Given the description of an element on the screen output the (x, y) to click on. 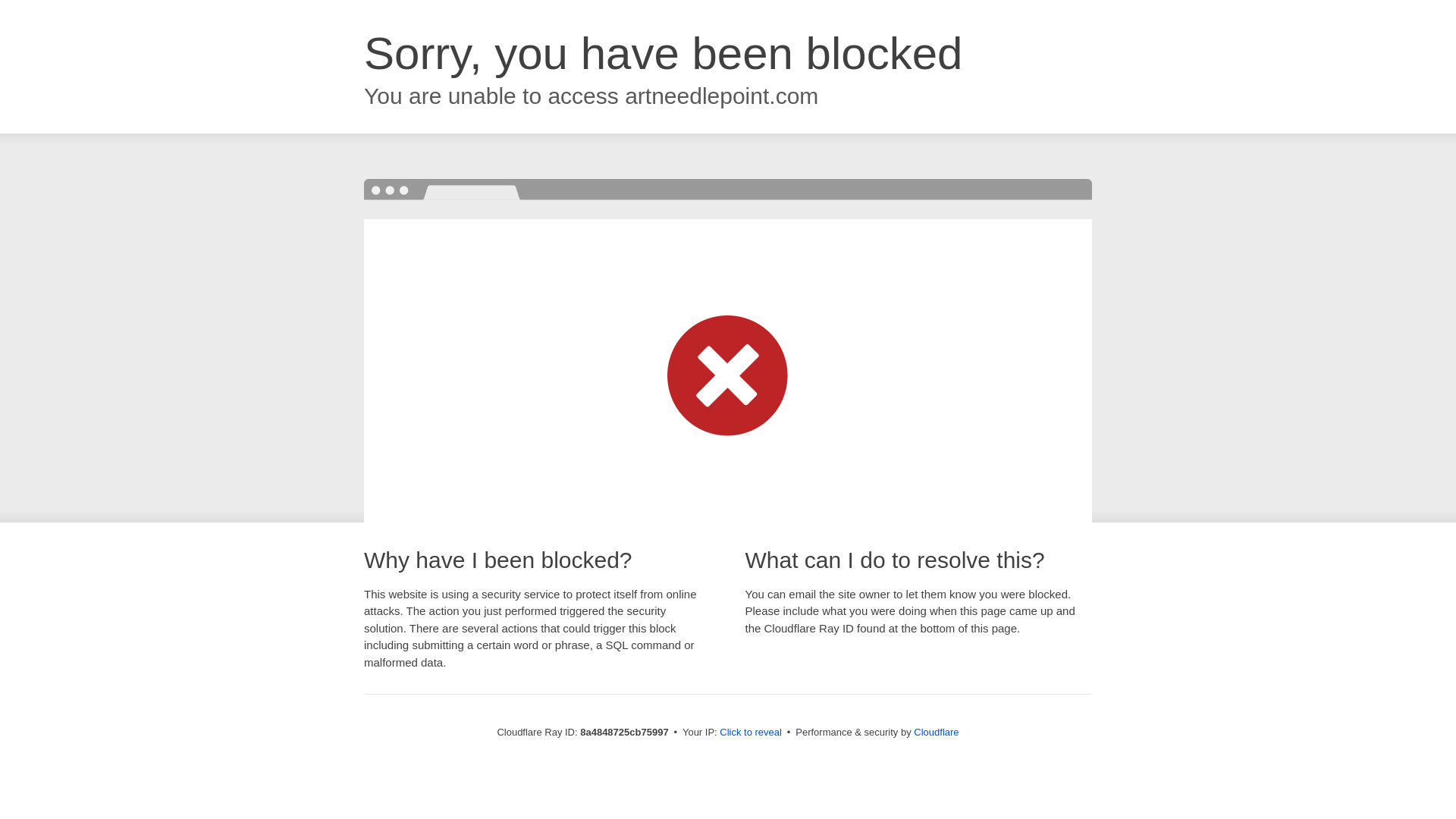
Cloudflare (936, 731)
Click to reveal (750, 732)
